Given the description of an element on the screen output the (x, y) to click on. 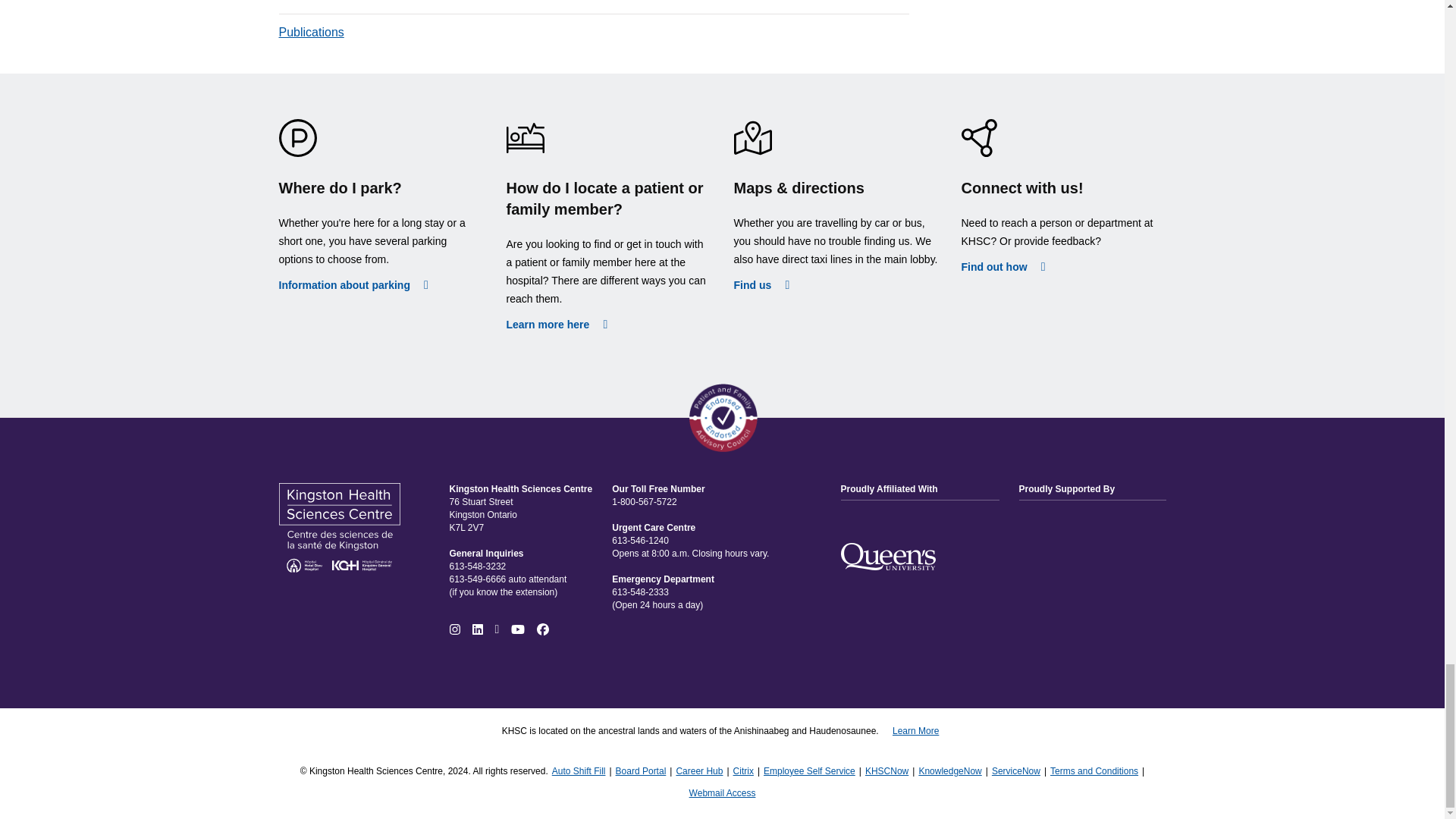
LinkedIn (476, 629)
YouTube (518, 629)
Facebook (542, 629)
Instagram (453, 629)
